Given the description of an element on the screen output the (x, y) to click on. 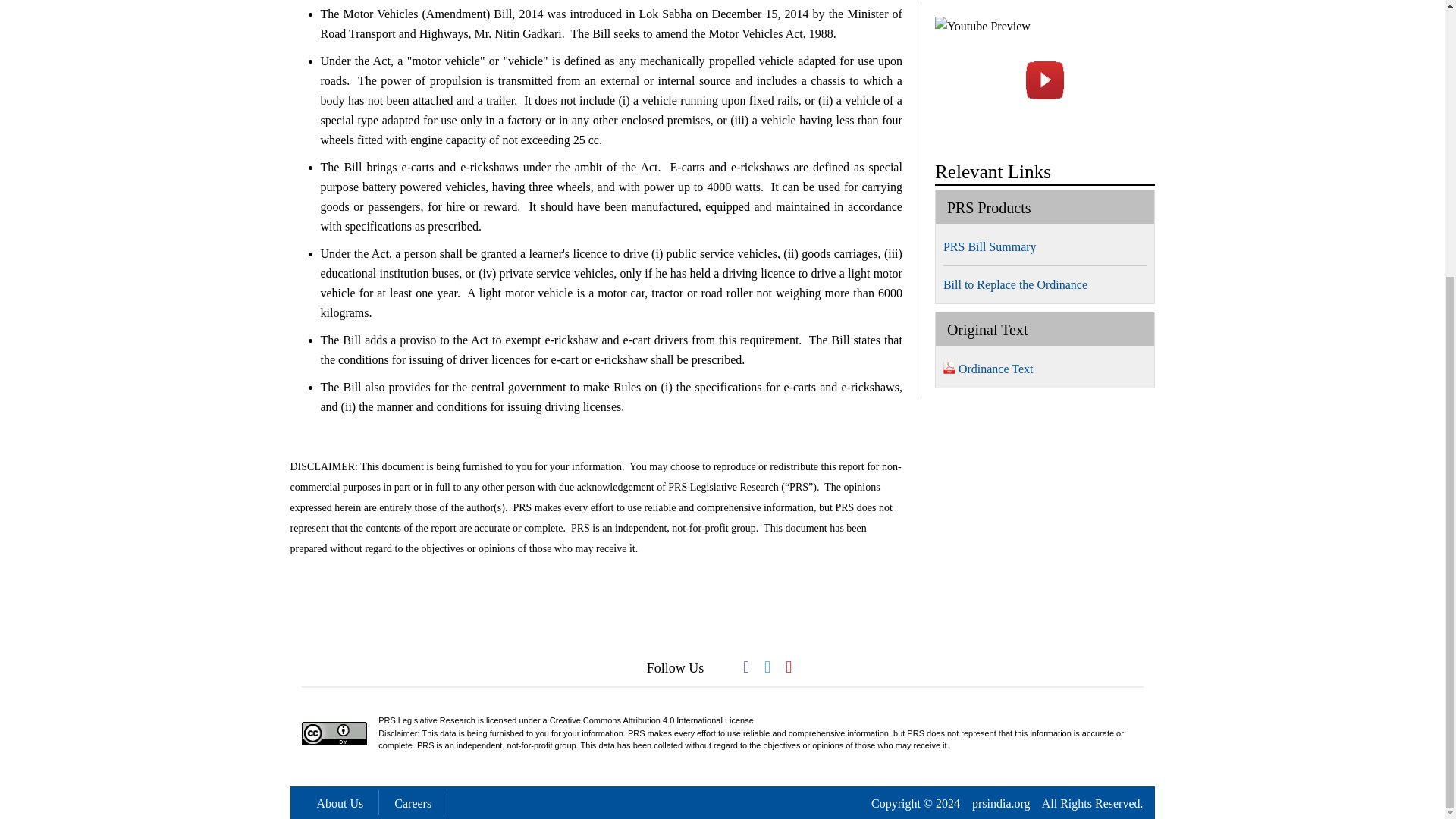
Bill to Replace the Ordinance (1019, 284)
PRS Bill Summary (994, 246)
